Given the description of an element on the screen output the (x, y) to click on. 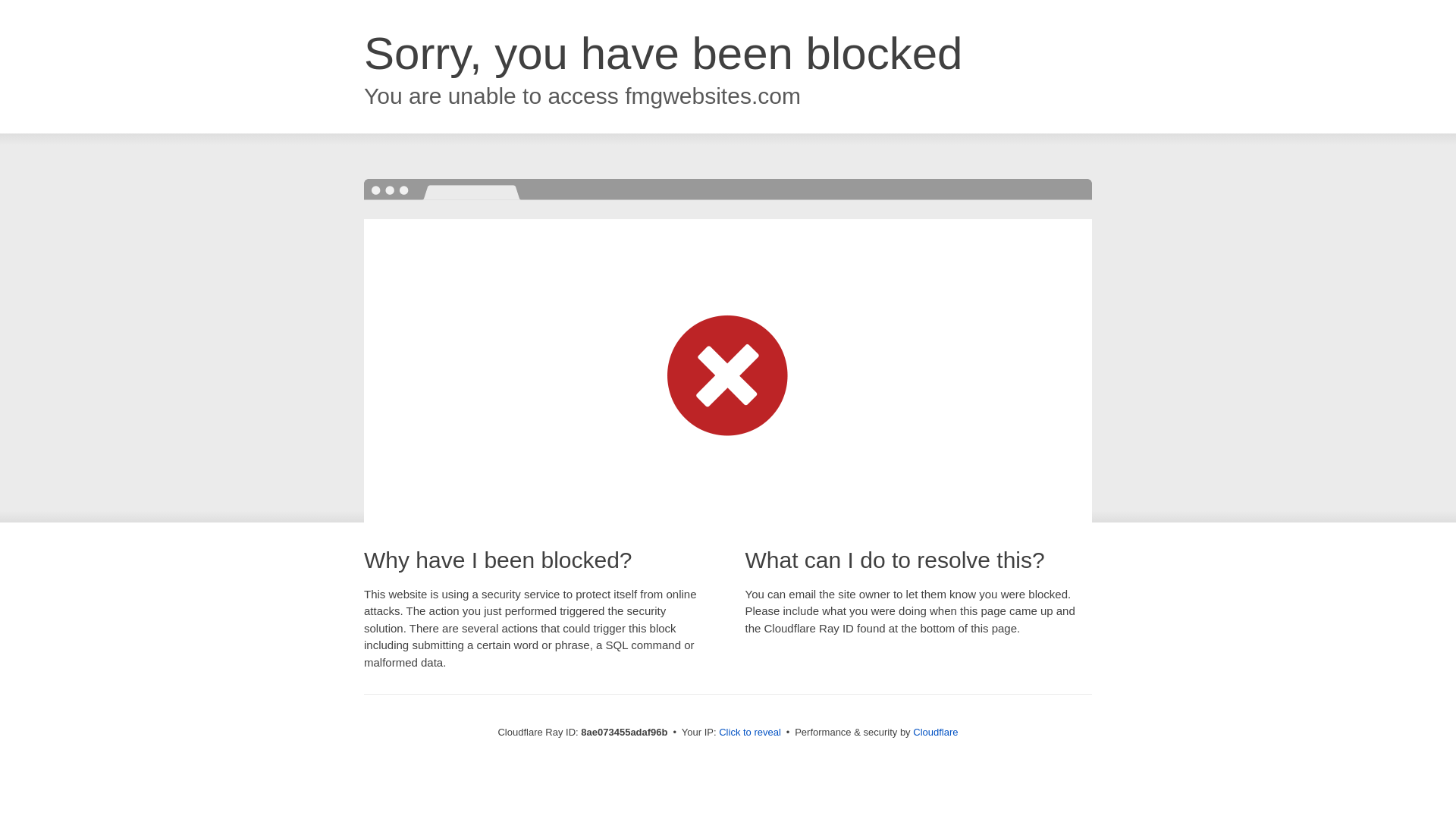
Cloudflare (935, 731)
Click to reveal (749, 732)
